Given the description of an element on the screen output the (x, y) to click on. 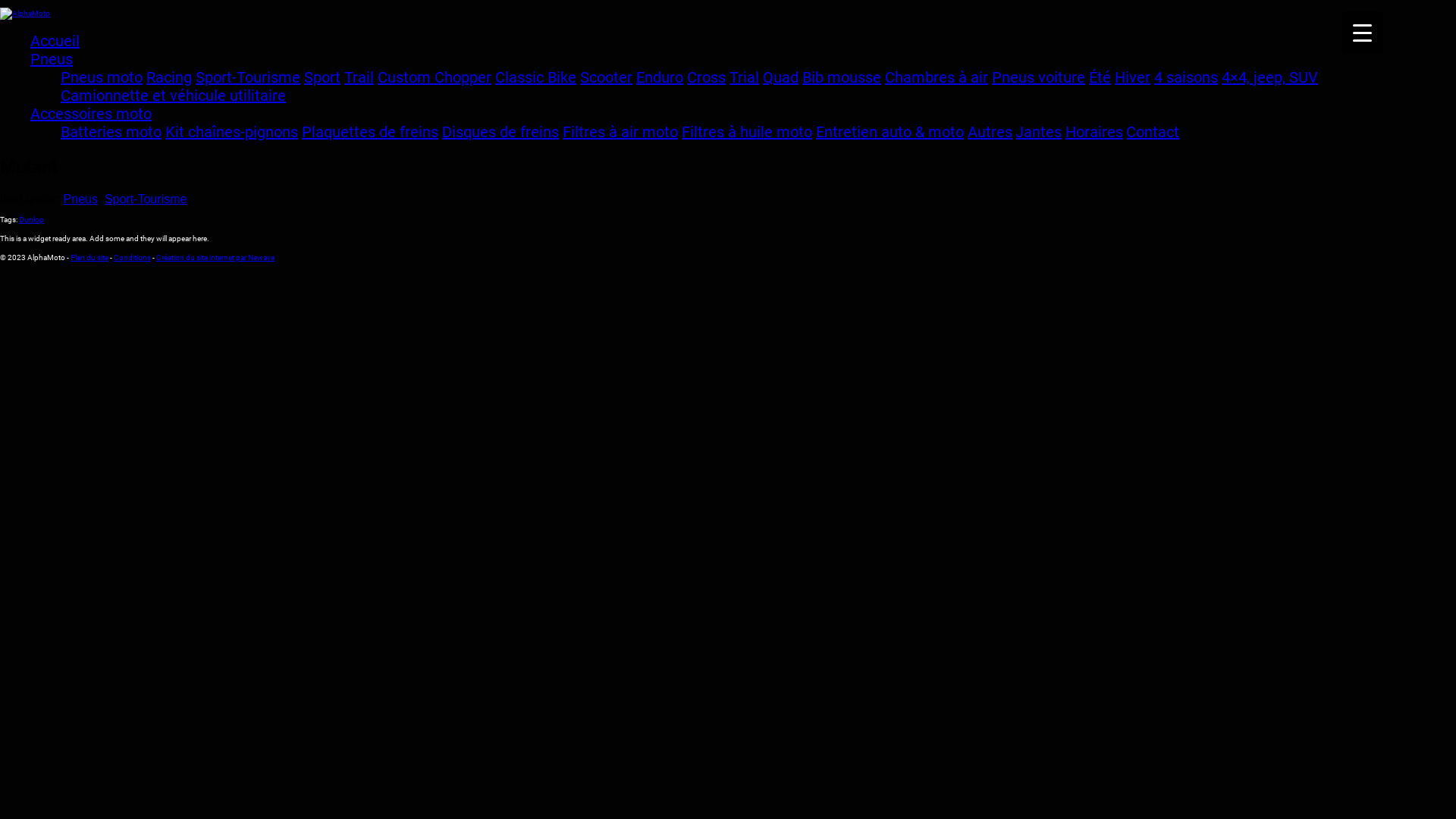
Plan du site Element type: text (89, 257)
Cross Element type: text (706, 77)
Custom Chopper Element type: text (434, 77)
4 saisons Element type: text (1185, 77)
Classic Bike Element type: text (535, 77)
Batteries moto Element type: text (110, 131)
Jantes Element type: text (1038, 131)
Trial Element type: text (744, 77)
Pneus moto Element type: text (101, 77)
Sport-Tourisme Element type: text (145, 198)
Enduro Element type: text (659, 77)
Pneus Element type: text (51, 59)
Sport-Tourisme Element type: text (247, 77)
Pneus Element type: text (80, 198)
Contact Element type: text (1152, 131)
Scooter Element type: text (606, 77)
Dunlop Element type: text (30, 219)
Horaires Element type: text (1094, 131)
Quad Element type: text (780, 77)
Trail Element type: text (358, 77)
Disques de freins Element type: text (500, 131)
Hiver Element type: text (1132, 77)
Pneus voiture Element type: text (1038, 77)
Accessoires moto Element type: text (90, 113)
Sport Element type: text (322, 77)
Bib mousse Element type: text (841, 77)
Racing Element type: text (168, 77)
Autres Element type: text (989, 131)
Plaquettes de freins Element type: text (369, 131)
Accueil Element type: text (54, 40)
Conditions Element type: text (131, 257)
Entretien auto & moto Element type: text (889, 131)
